Given the description of an element on the screen output the (x, y) to click on. 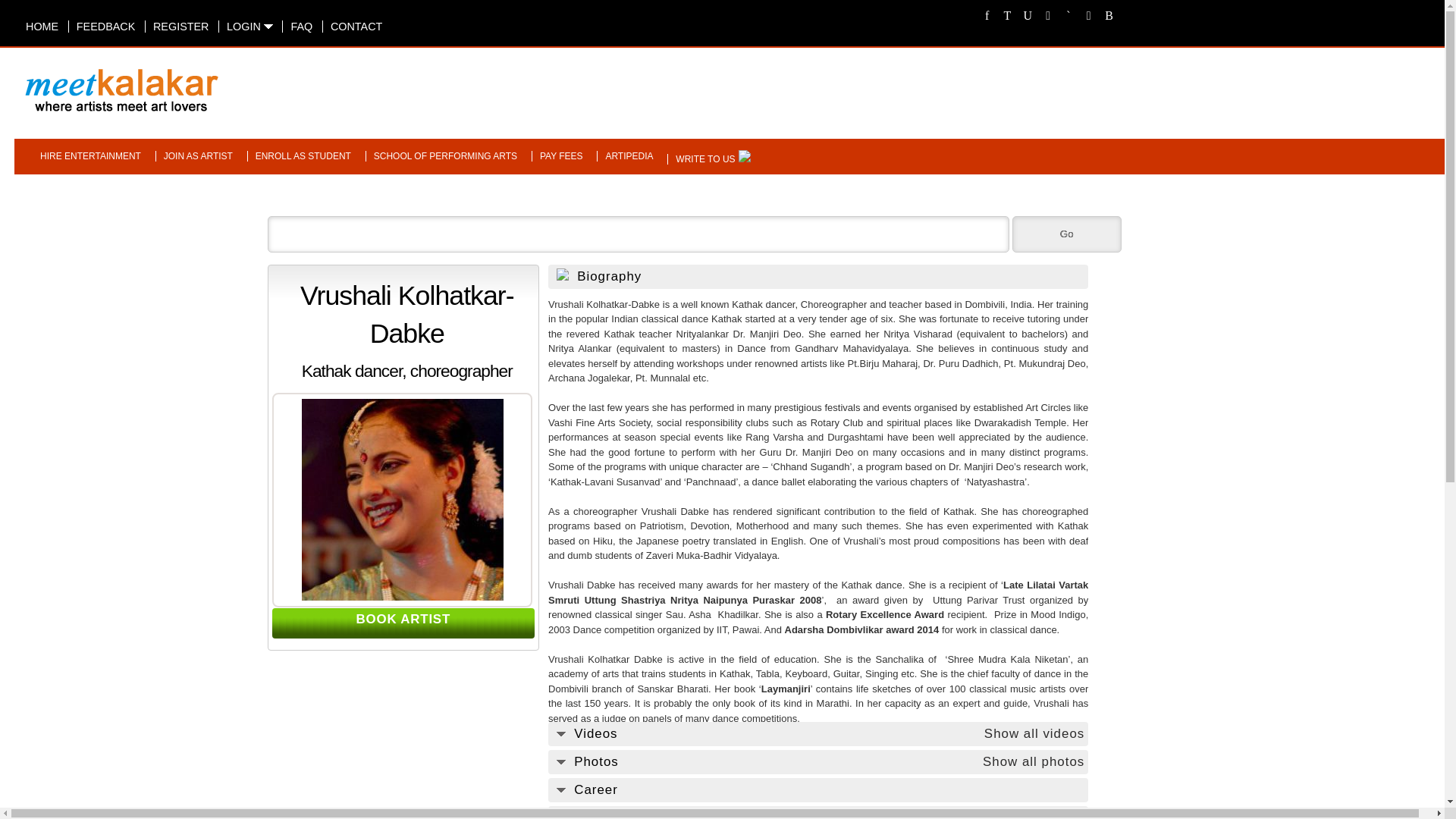
Show all videos (1034, 733)
ARTIPEDIA (624, 155)
HOME (37, 26)
SCHOOL OF PERFORMING ARTS (440, 155)
JOIN AS ARTIST (193, 155)
WRITE TO US (700, 158)
FEEDBACK (101, 26)
LOGIN (245, 26)
ENROLL AS STUDENT (298, 155)
REGISTER (176, 26)
